Given the description of an element on the screen output the (x, y) to click on. 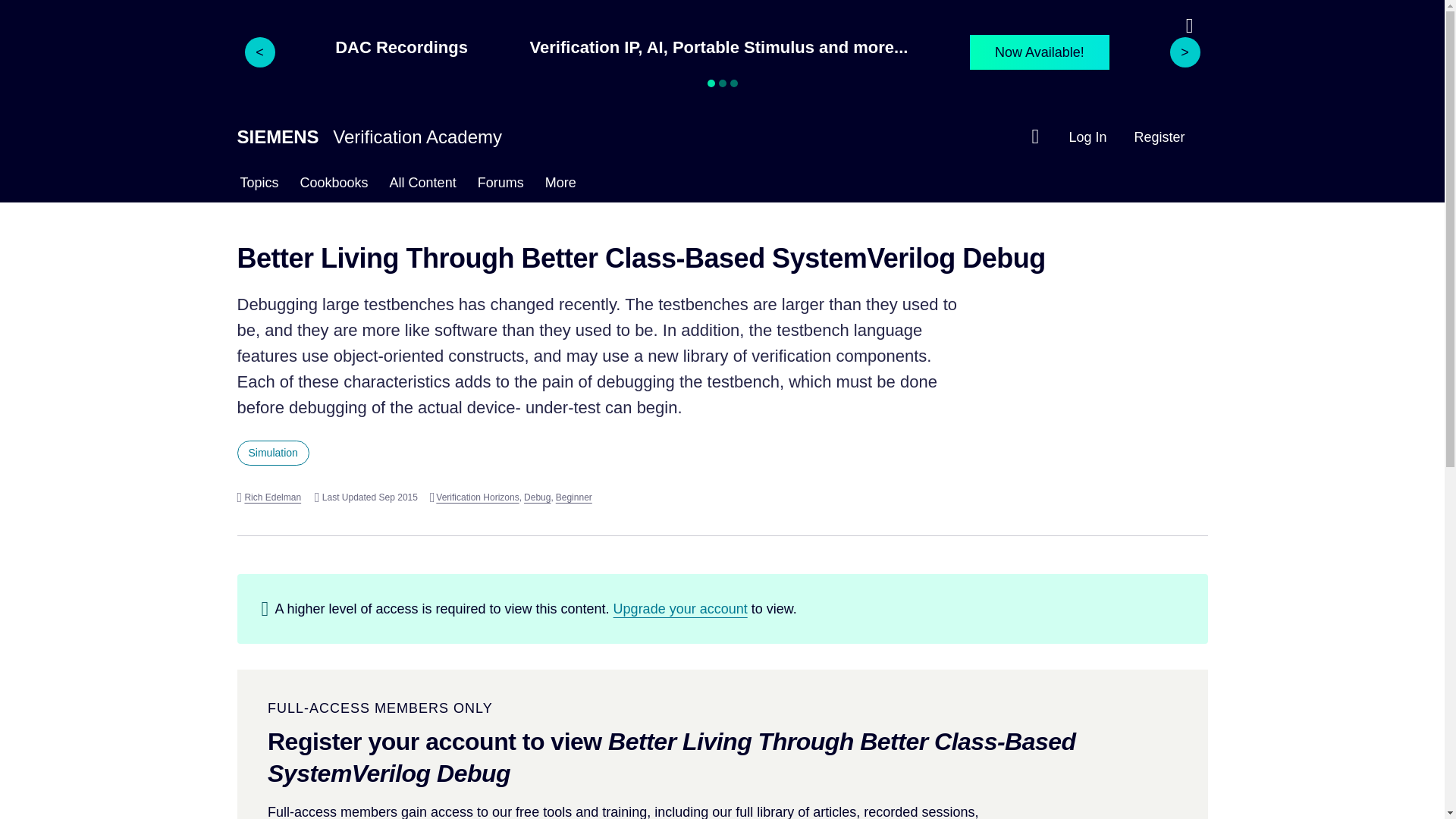
Now Available! (1039, 52)
Register (1158, 136)
Topics (258, 185)
Go to topic page (271, 453)
Cookbooks (333, 185)
Log In (1086, 136)
SIEMENS Verification Academy (368, 136)
September 2nd, 2015 9:10:43 AM (365, 497)
